Given the description of an element on the screen output the (x, y) to click on. 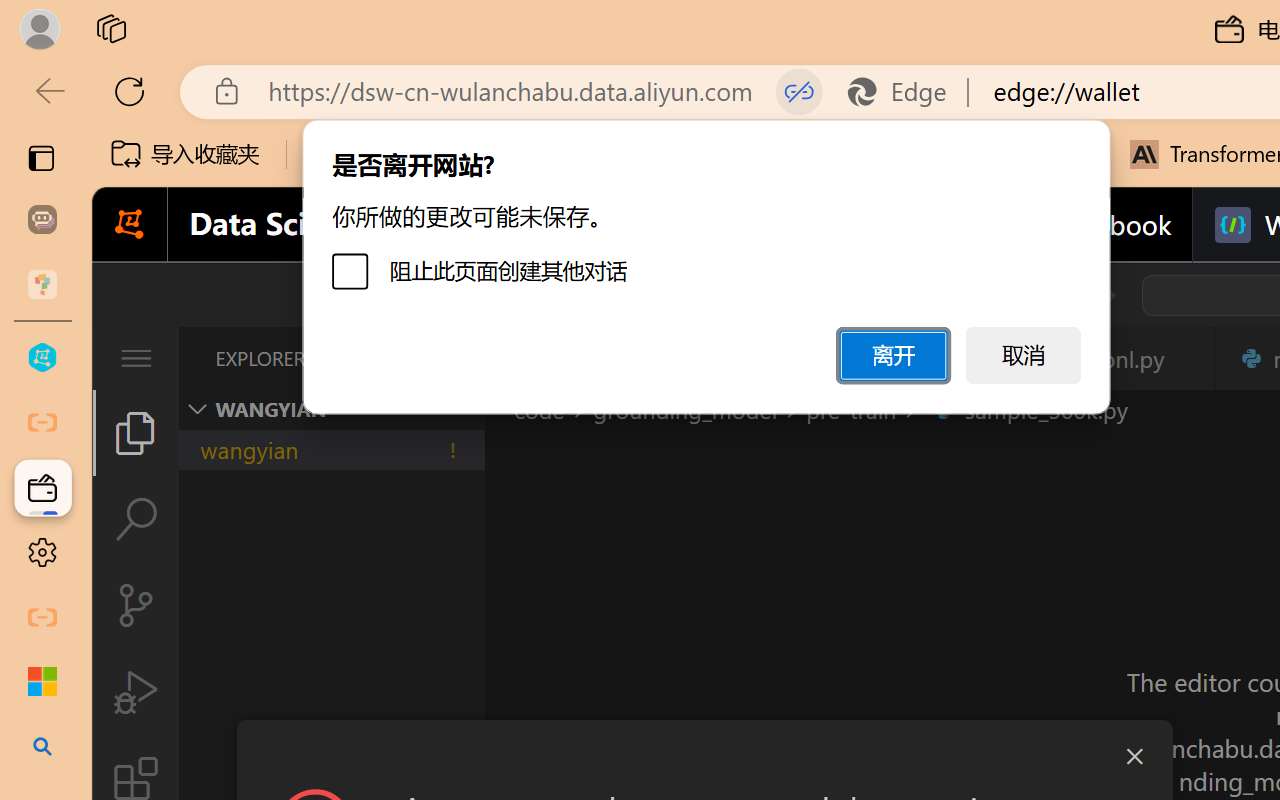
Microsoft security help and learning (42, 681)
Explorer (Ctrl+Shift+E) (135, 432)
Source Control (Ctrl+Shift+G) (135, 604)
Class: menubar compact overflow-menu-only (135, 358)
wangyian_dsw - DSW (42, 357)
Class: actions-container (703, 756)
Search (Ctrl+Shift+F) (135, 519)
Run and Debug (Ctrl+Shift+D) (135, 692)
